Given the description of an element on the screen output the (x, y) to click on. 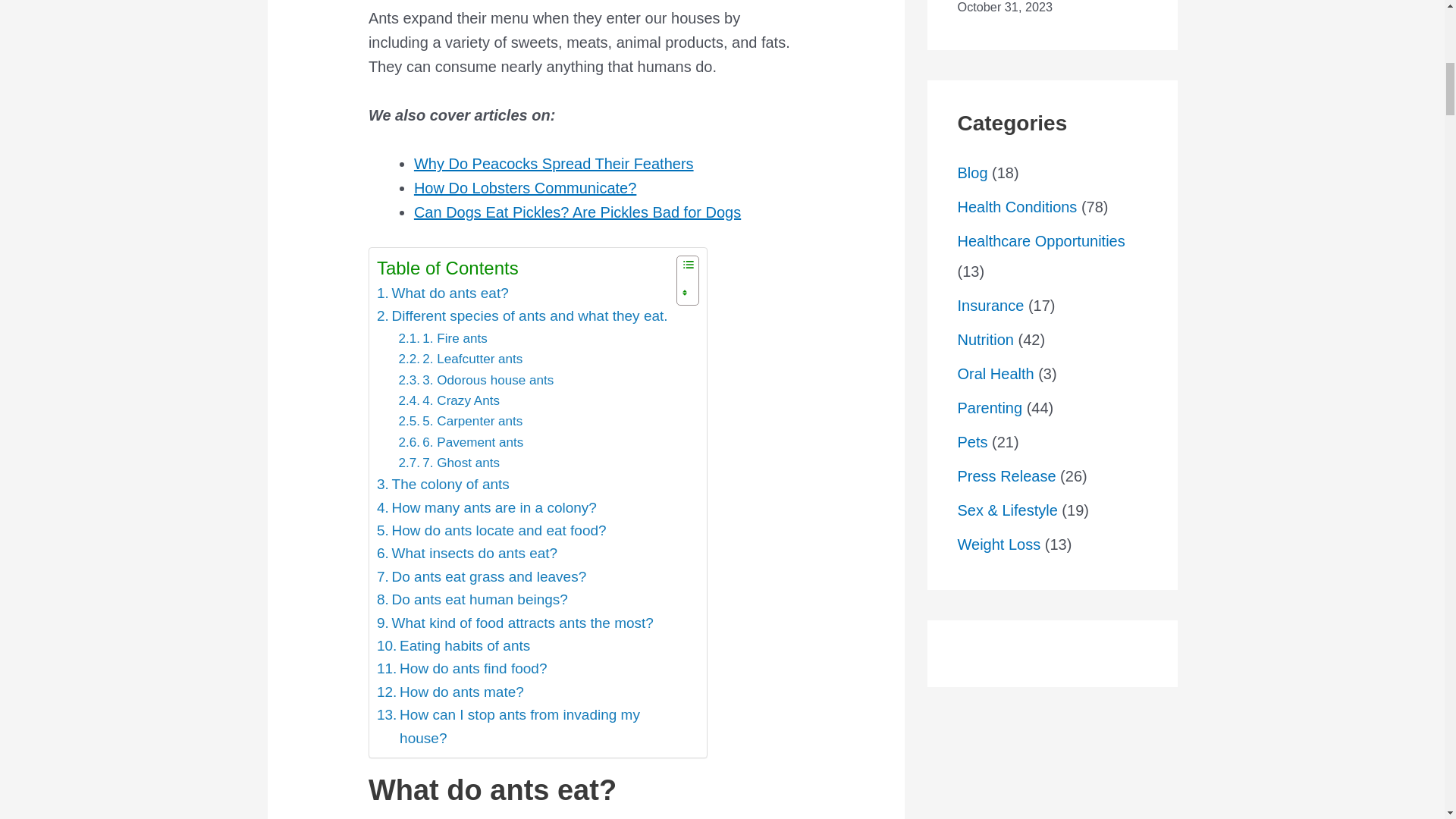
6. Pavement ants (459, 442)
1. Fire ants (441, 338)
Different species of ants and what they eat. (522, 315)
4. Crazy Ants (448, 400)
How many ants are in a colony? (486, 507)
What do ants eat? (442, 292)
7. Ghost ants (448, 462)
2. Leafcutter ants (459, 358)
The colony of ants (443, 484)
5. Carpenter ants (459, 421)
3. Odorous house ants (475, 380)
